Given the description of an element on the screen output the (x, y) to click on. 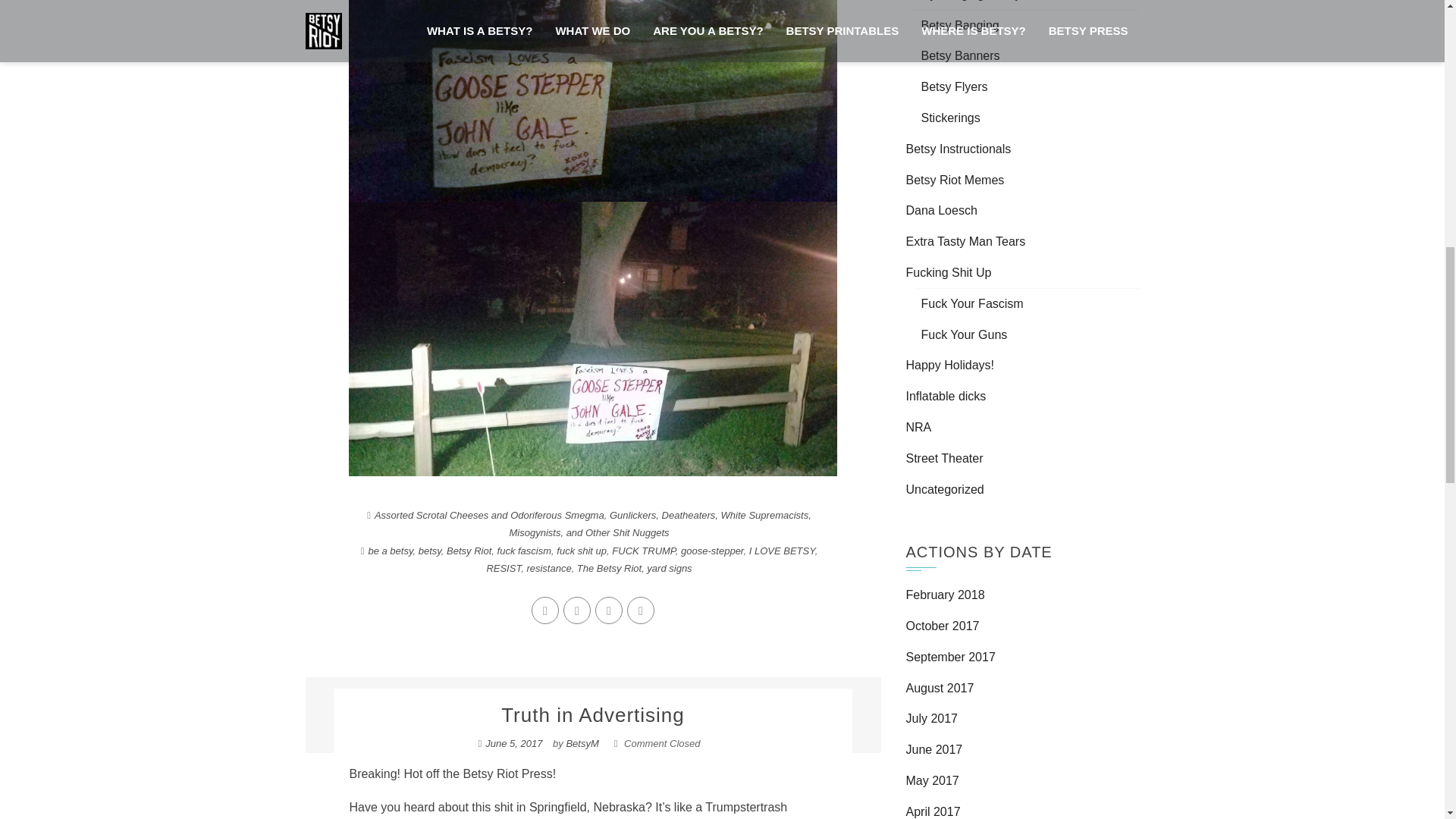
Truth in Advertising (592, 714)
resistance (547, 568)
June 5, 2017 (512, 743)
The Betsy Riot (609, 568)
fuck shit up (581, 550)
Assorted Scrotal Cheeses and Odoriferous Smegma (489, 514)
FUCK TRUMP (643, 550)
BetsyM (582, 743)
RESIST (503, 568)
be a betsy (390, 550)
Betsy Riot (469, 550)
I LOVE BETSY (782, 550)
fuck fascism (524, 550)
betsy (430, 550)
